Given the description of an element on the screen output the (x, y) to click on. 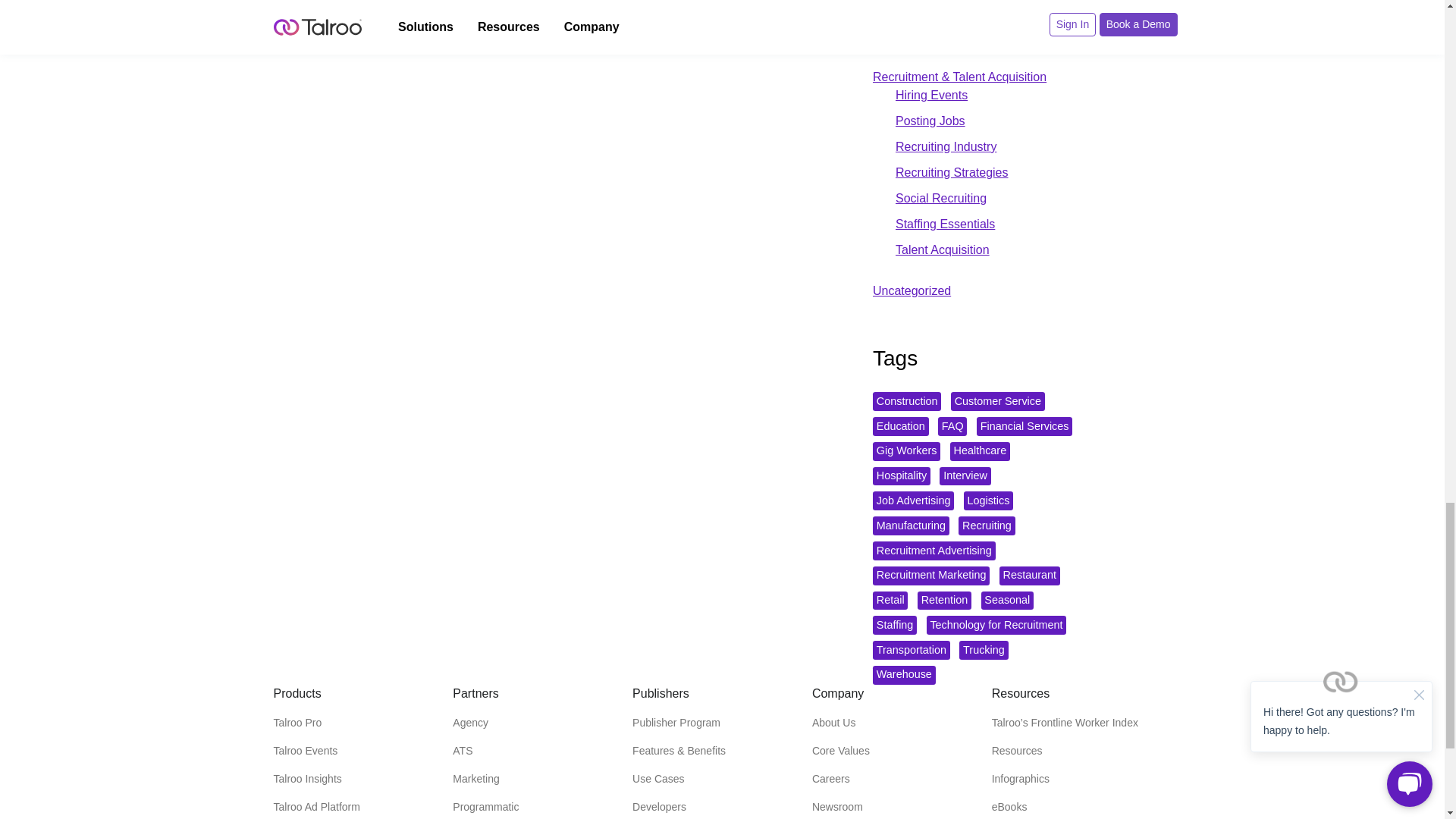
Education Tag (900, 425)
Recruiting Tag (986, 525)
FAQ Tag (951, 425)
Healthcare Tag (980, 451)
Financial Services Tag (1023, 425)
Customer Service Tag (997, 401)
Retail Tag (889, 600)
Job Advertising Tag (912, 500)
Restaurant Tag (1028, 575)
Manufacturing Tag (910, 525)
Gig Workers Tag (906, 451)
Recruitment Advertising Tag (933, 550)
Logistics Tag (988, 500)
Construction Tag (906, 401)
Recruitment Marketing Tag (931, 575)
